Given the description of an element on the screen output the (x, y) to click on. 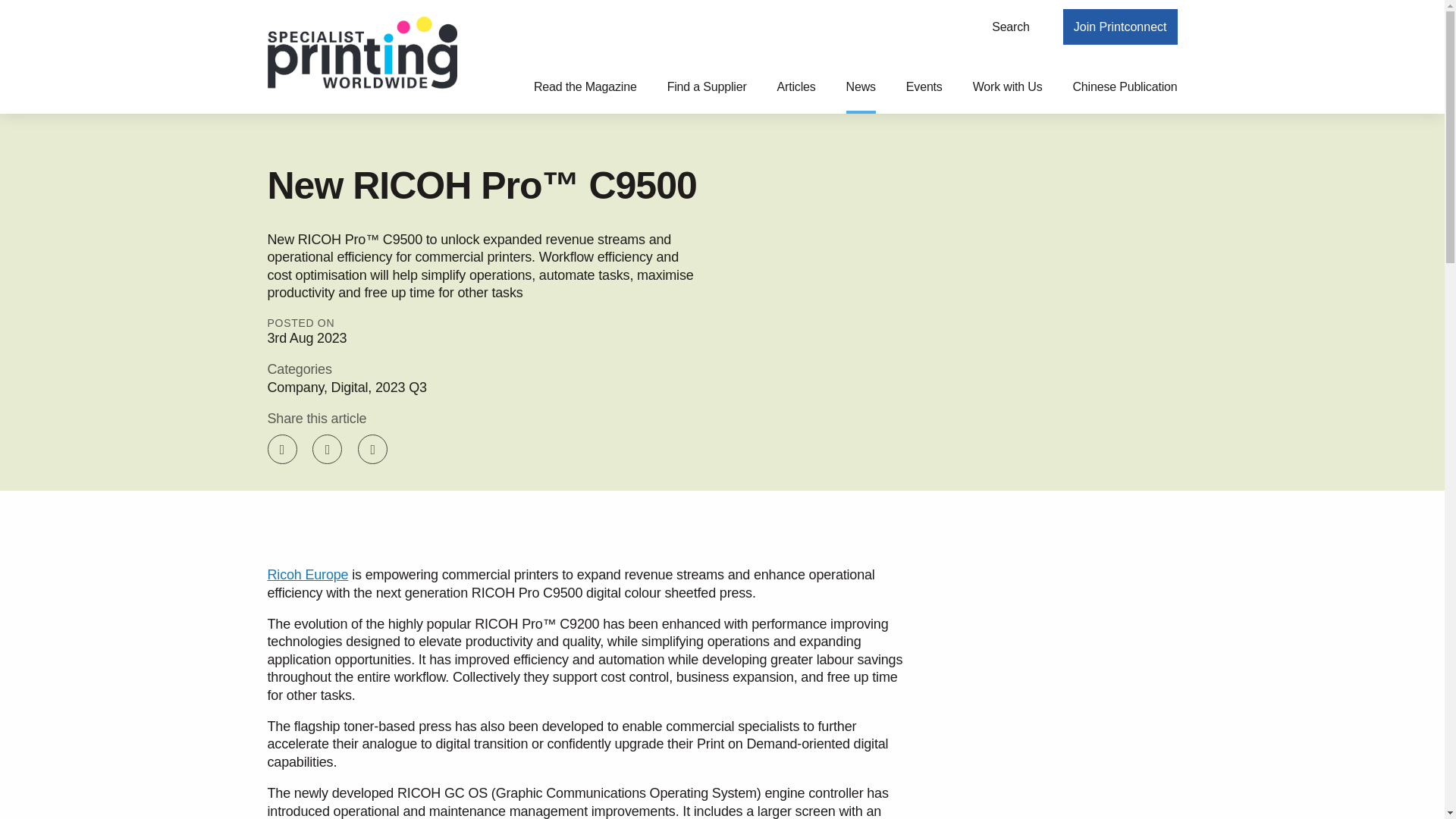
Find a Supplier (706, 96)
Work with Us (1007, 96)
Ricoh Europe (306, 574)
Articles (796, 96)
Chinese Publication (1123, 96)
Events (923, 96)
Work with Us (1007, 96)
Search (1011, 27)
Chinese Publication (1123, 96)
Events (923, 96)
